Given the description of an element on the screen output the (x, y) to click on. 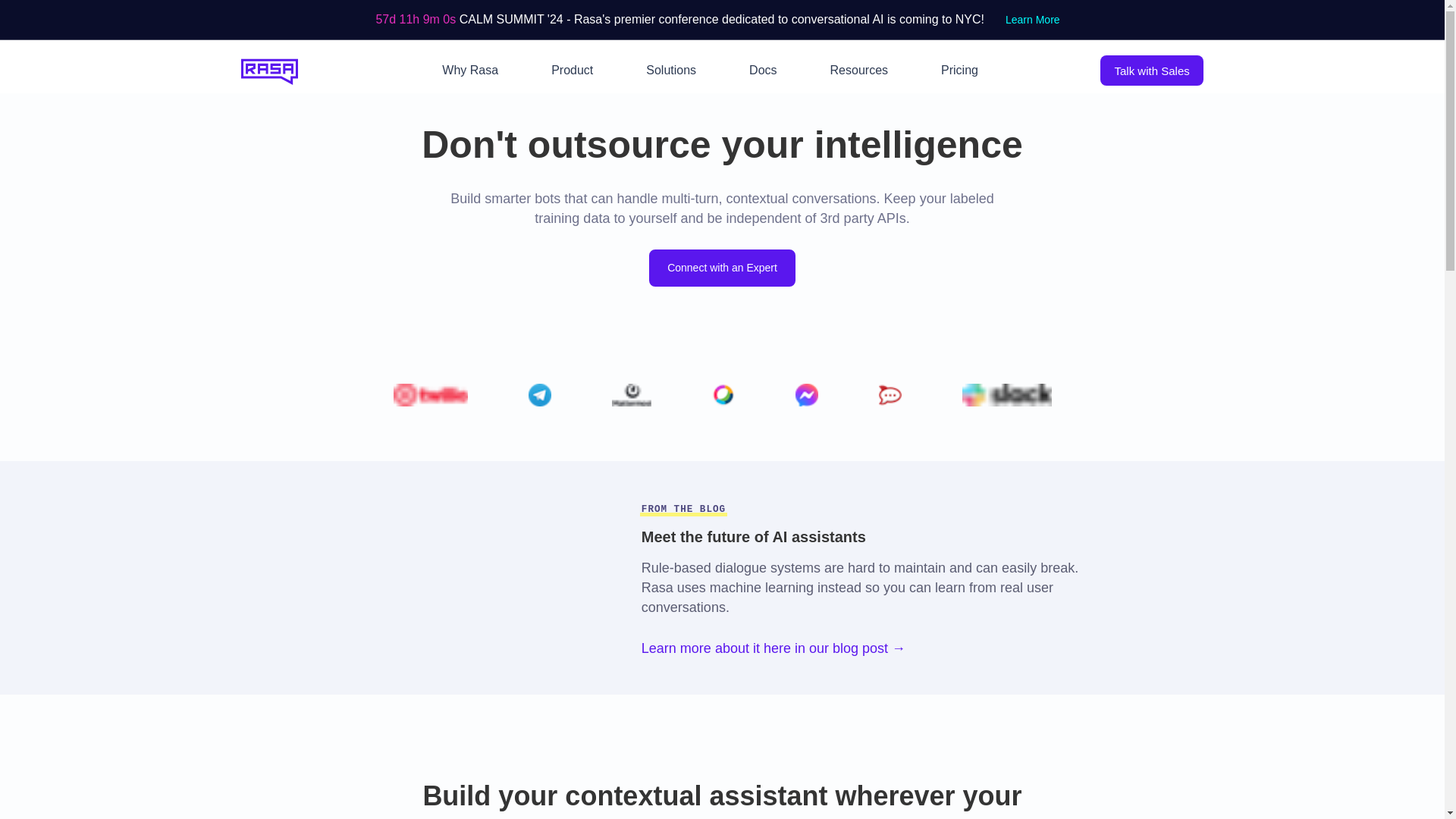
Learn More (1031, 19)
Why Rasa (469, 70)
Docs (762, 70)
Resources (858, 70)
Product (571, 70)
Solutions (670, 70)
